Given the description of an element on the screen output the (x, y) to click on. 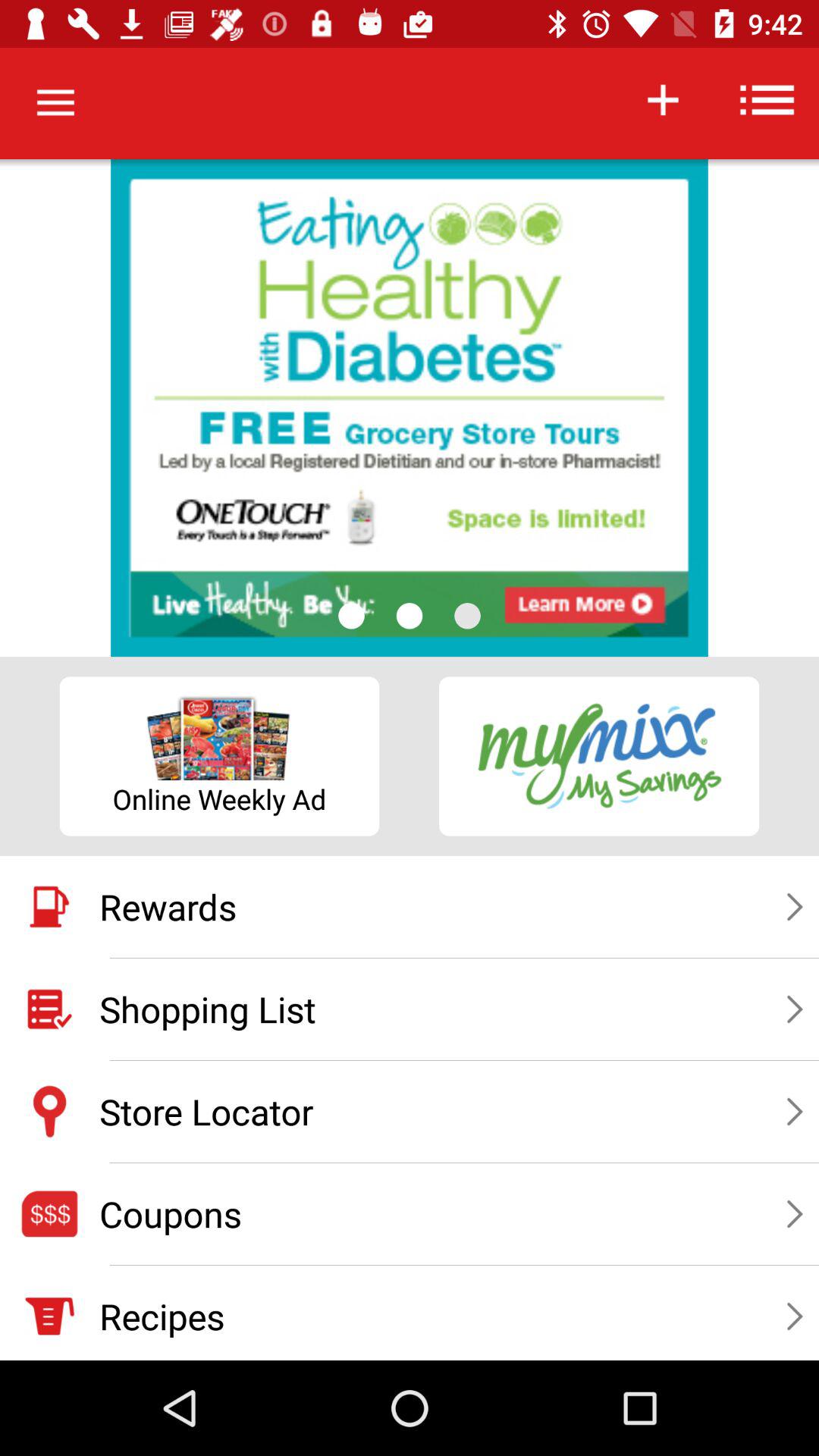
advertisement (409, 407)
